Given the description of an element on the screen output the (x, y) to click on. 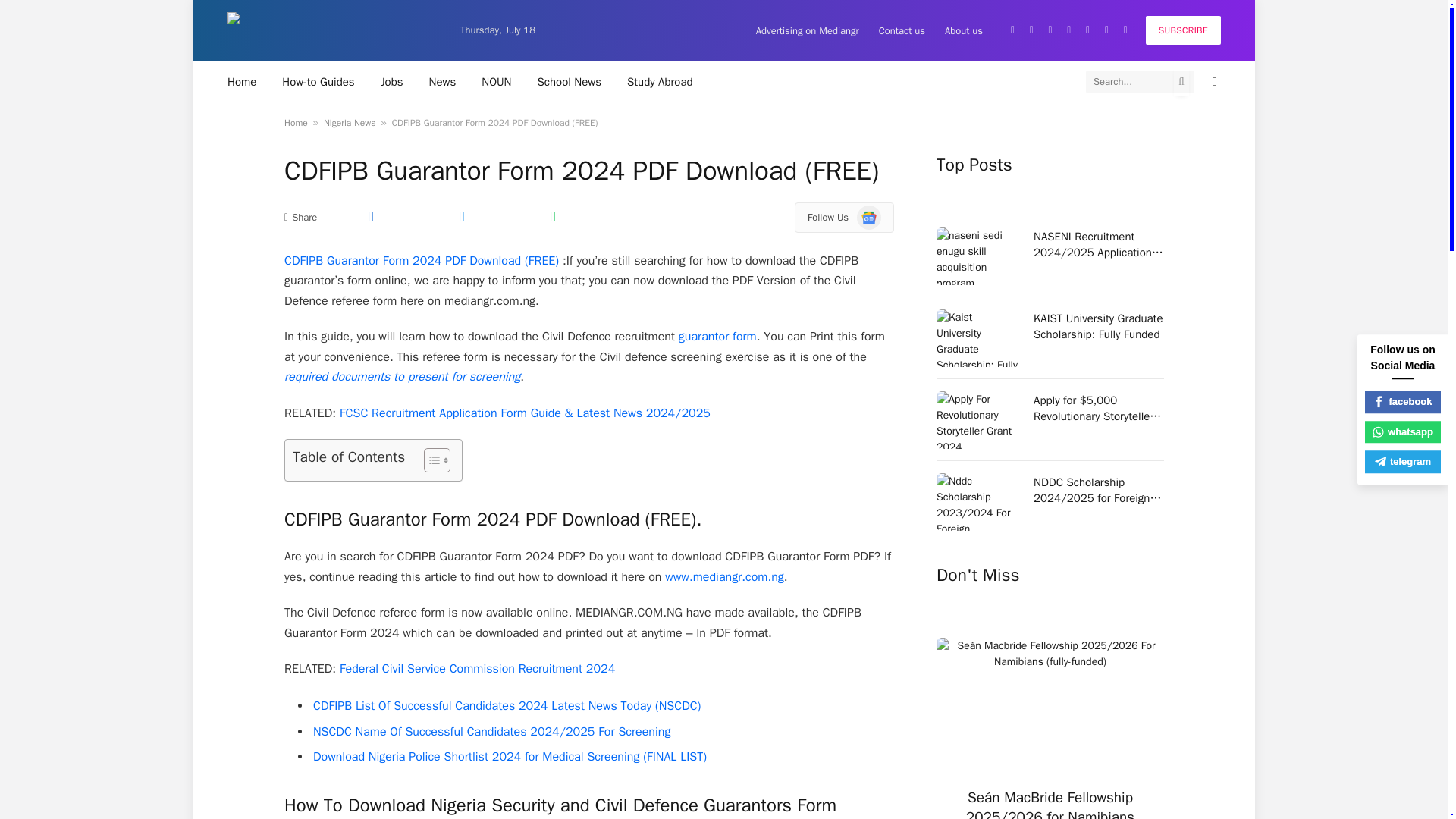
Hot Nigerian Jobs Today (392, 81)
Share on Facebook (370, 216)
Mediangr (330, 30)
Switch to Dark Design - easier on eyes. (1213, 81)
Share on WhatsApp (552, 216)
